Given the description of an element on the screen output the (x, y) to click on. 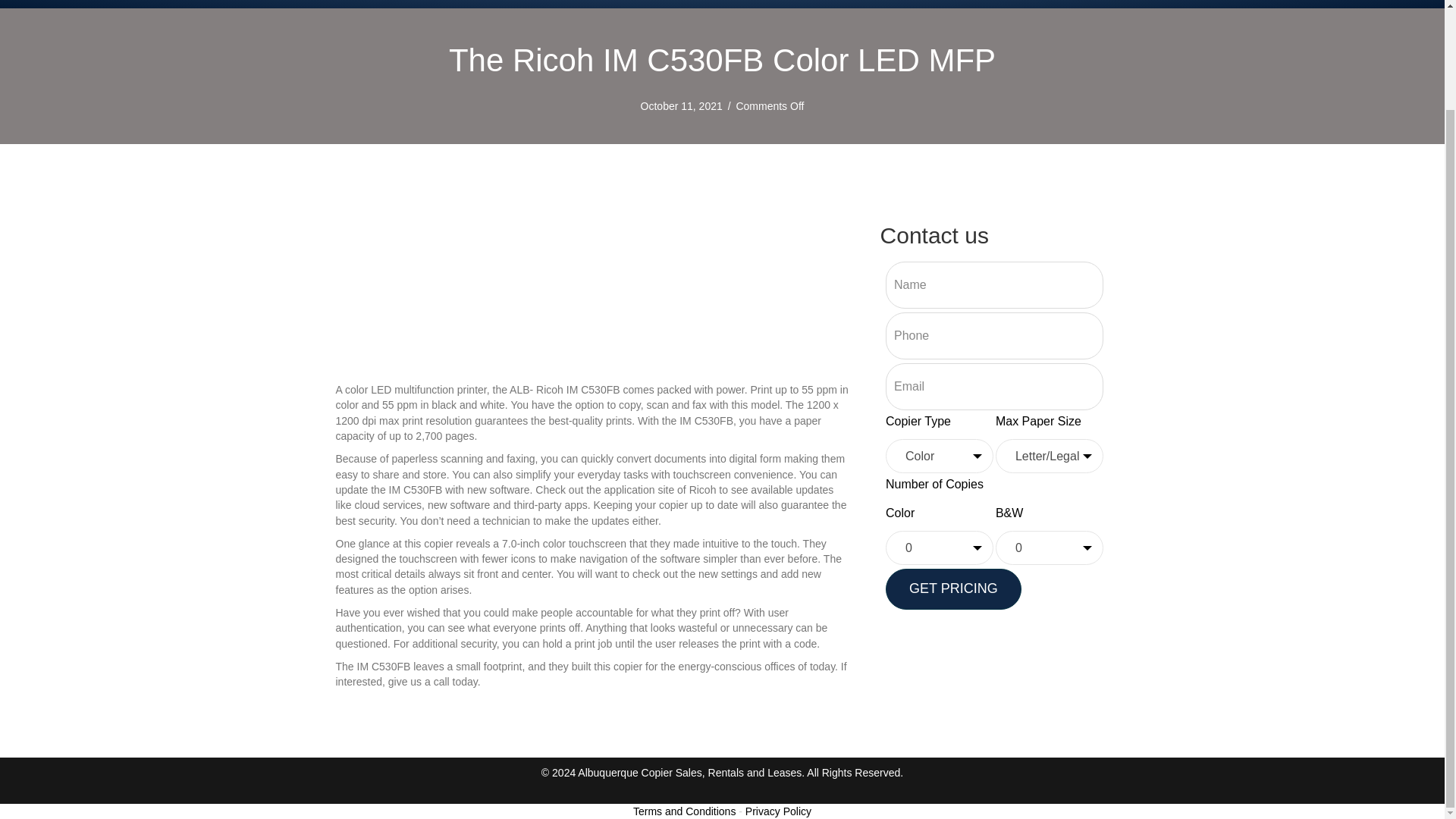
Terms and Conditions (684, 811)
Privacy Policy (777, 811)
GET PRICING (953, 588)
